Given the description of an element on the screen output the (x, y) to click on. 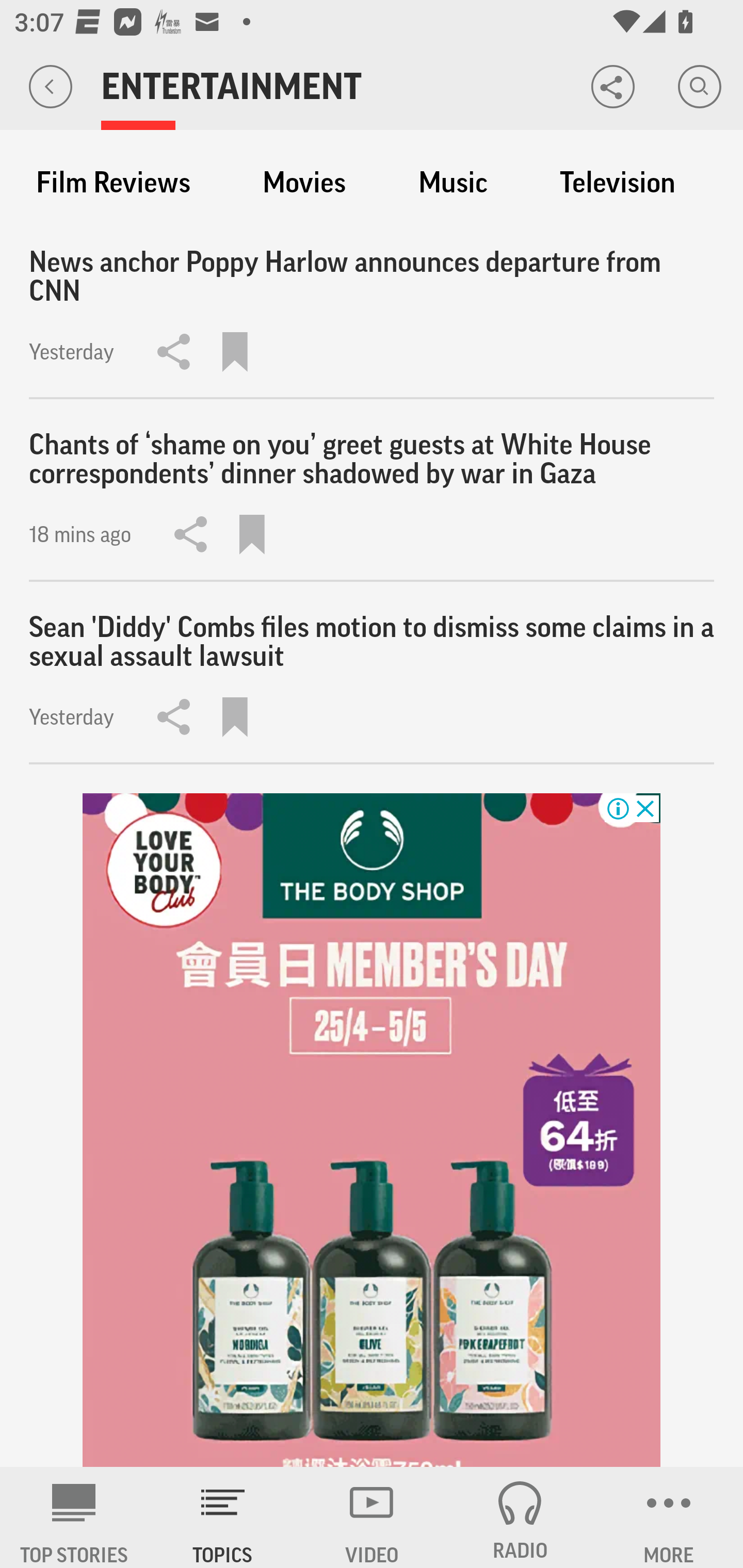
Film Reviews (112, 182)
Movies (304, 182)
Music (452, 182)
Television (617, 182)
AP News TOP STORIES (74, 1517)
TOPICS (222, 1517)
VIDEO (371, 1517)
RADIO (519, 1517)
MORE (668, 1517)
